Given the description of an element on the screen output the (x, y) to click on. 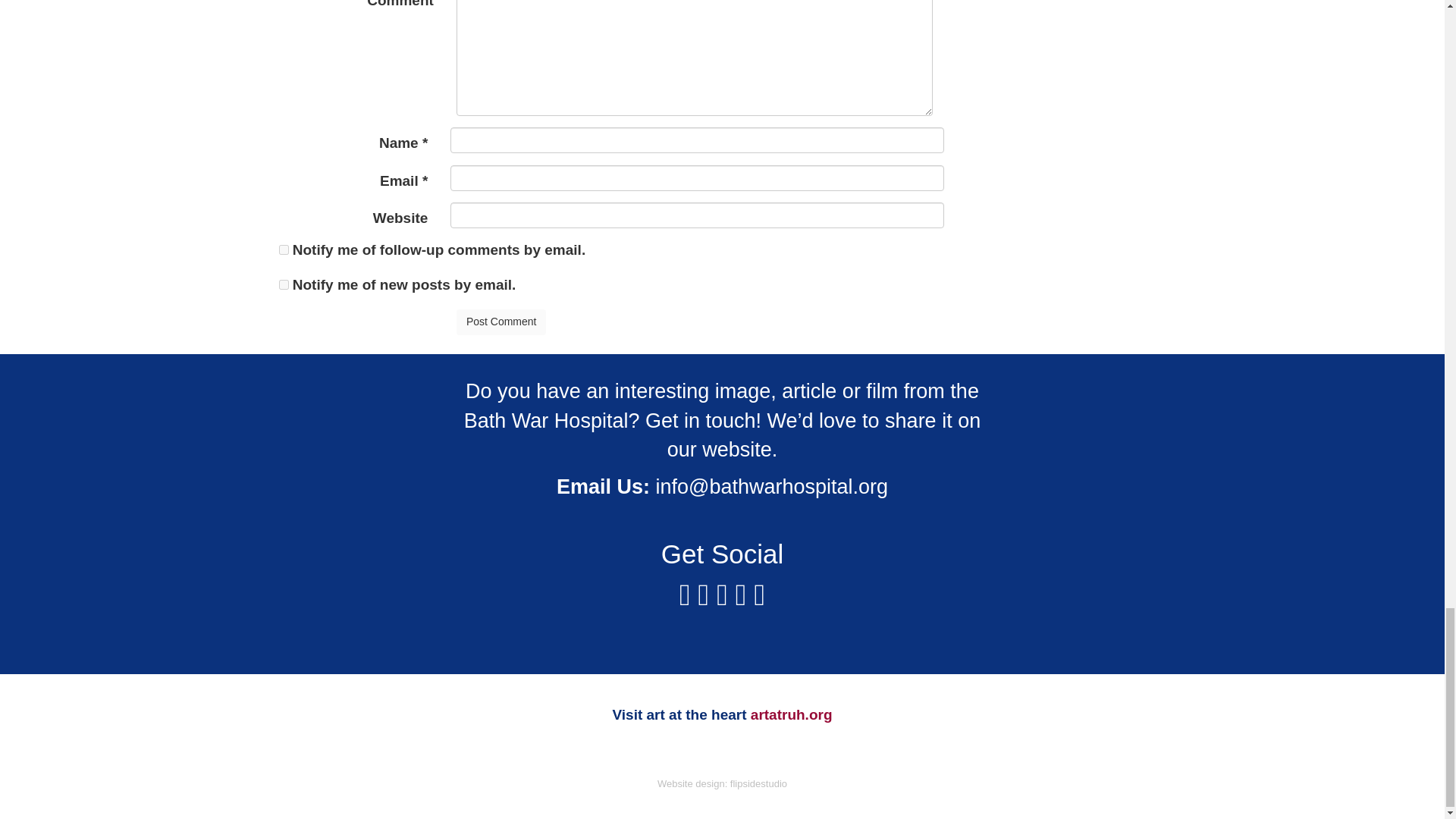
subscribe (283, 284)
subscribe (283, 249)
Post Comment (502, 321)
Post Comment (502, 321)
artatruh.org (791, 714)
